Given the description of an element on the screen output the (x, y) to click on. 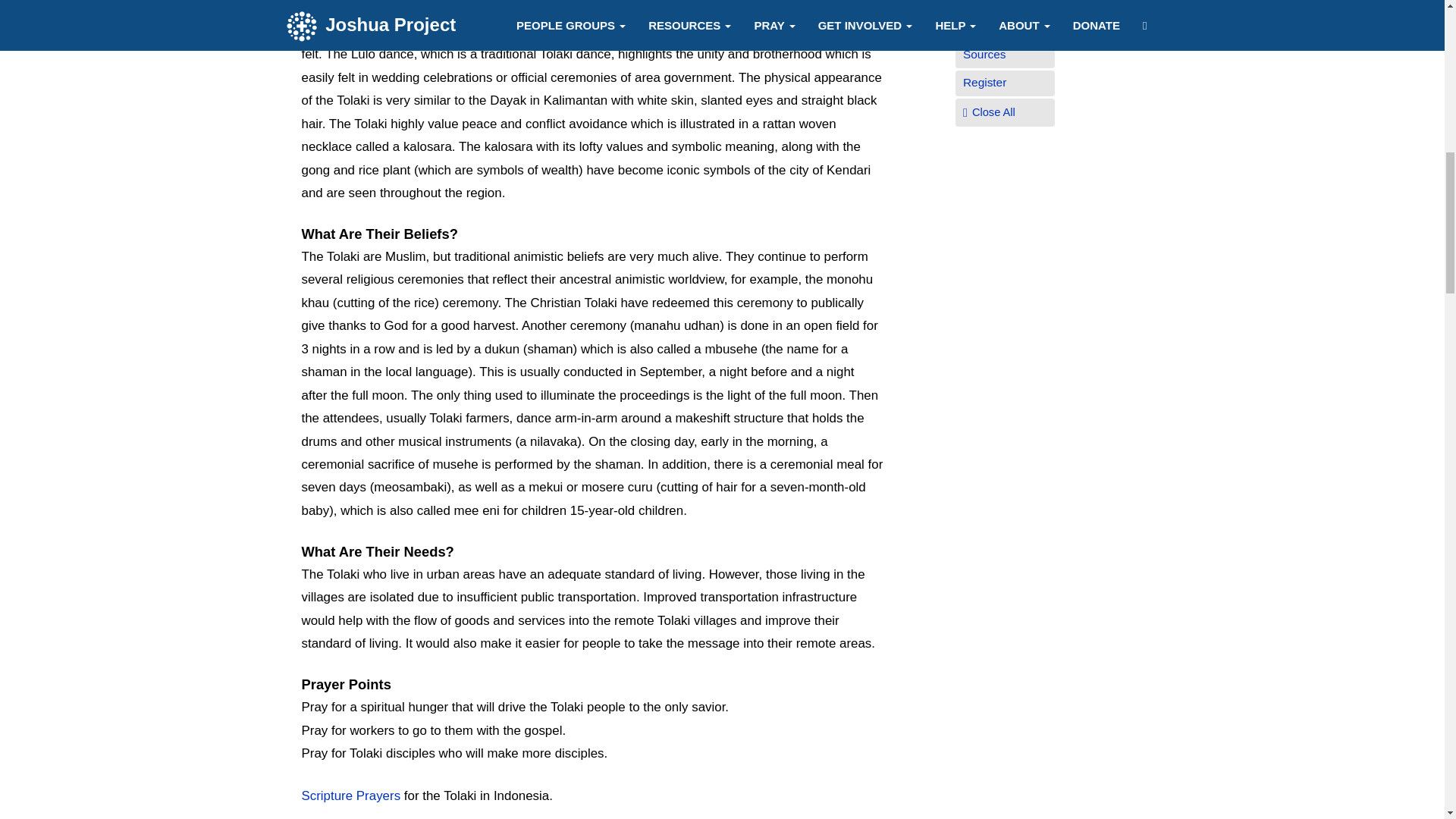
Close All (994, 112)
